Given the description of an element on the screen output the (x, y) to click on. 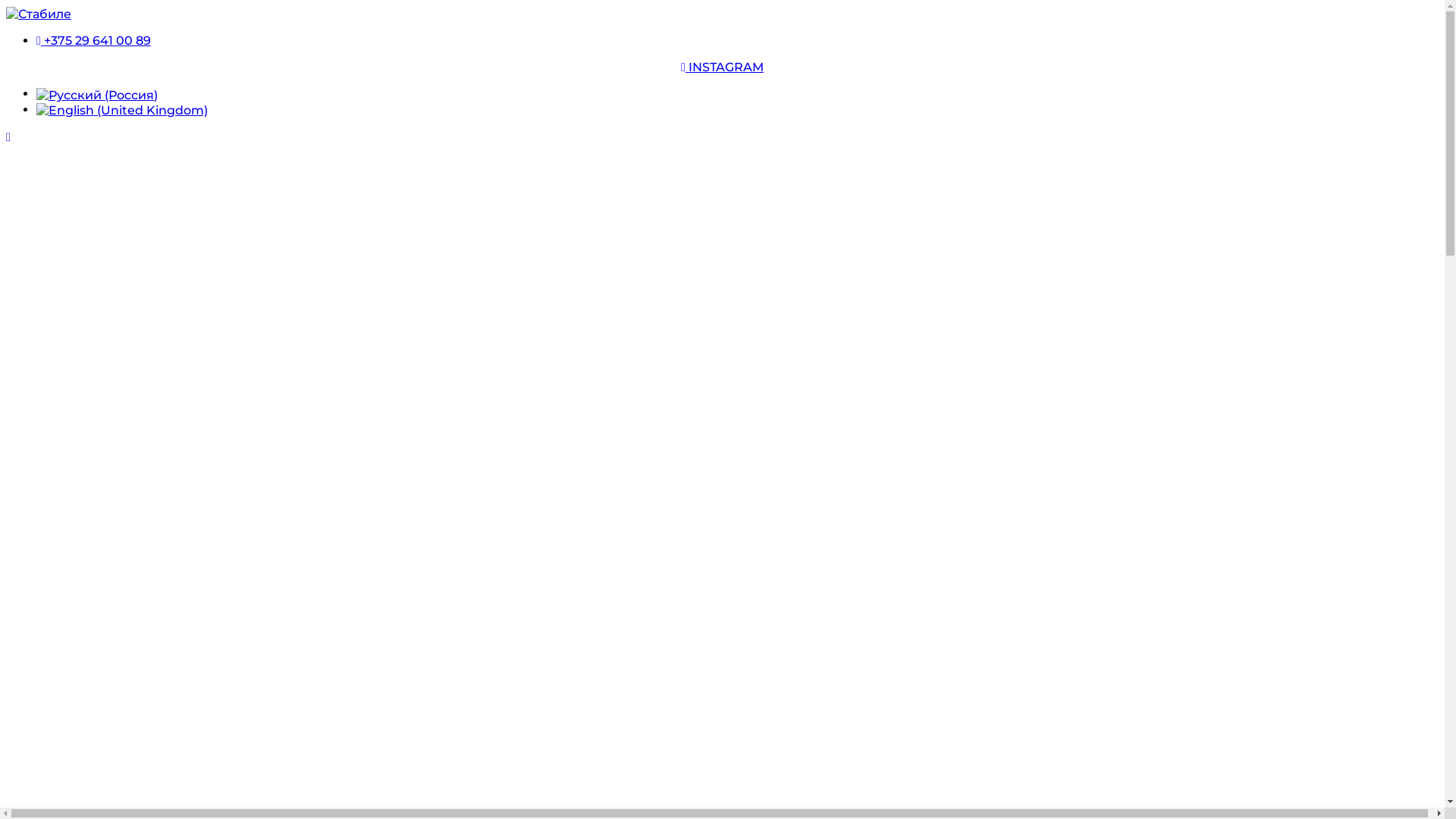
Navigation Element type: hover (8, 137)
English (United Kingdom) Element type: hover (121, 110)
+375 29 641 00 89 Element type: text (93, 40)
INSTAGRAM Element type: text (721, 66)
